Given the description of an element on the screen output the (x, y) to click on. 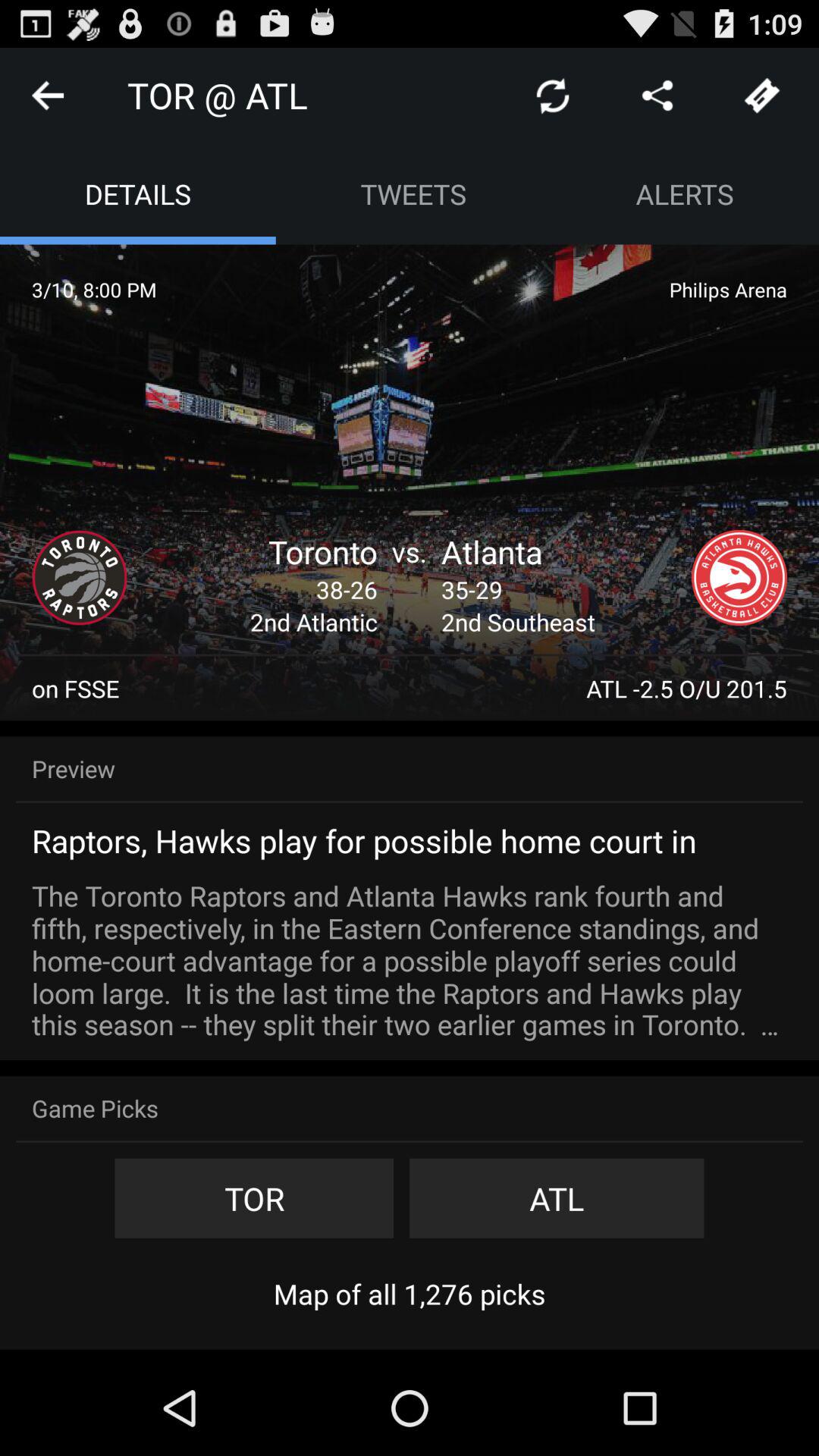
tap to view team info (739, 577)
